Given the description of an element on the screen output the (x, y) to click on. 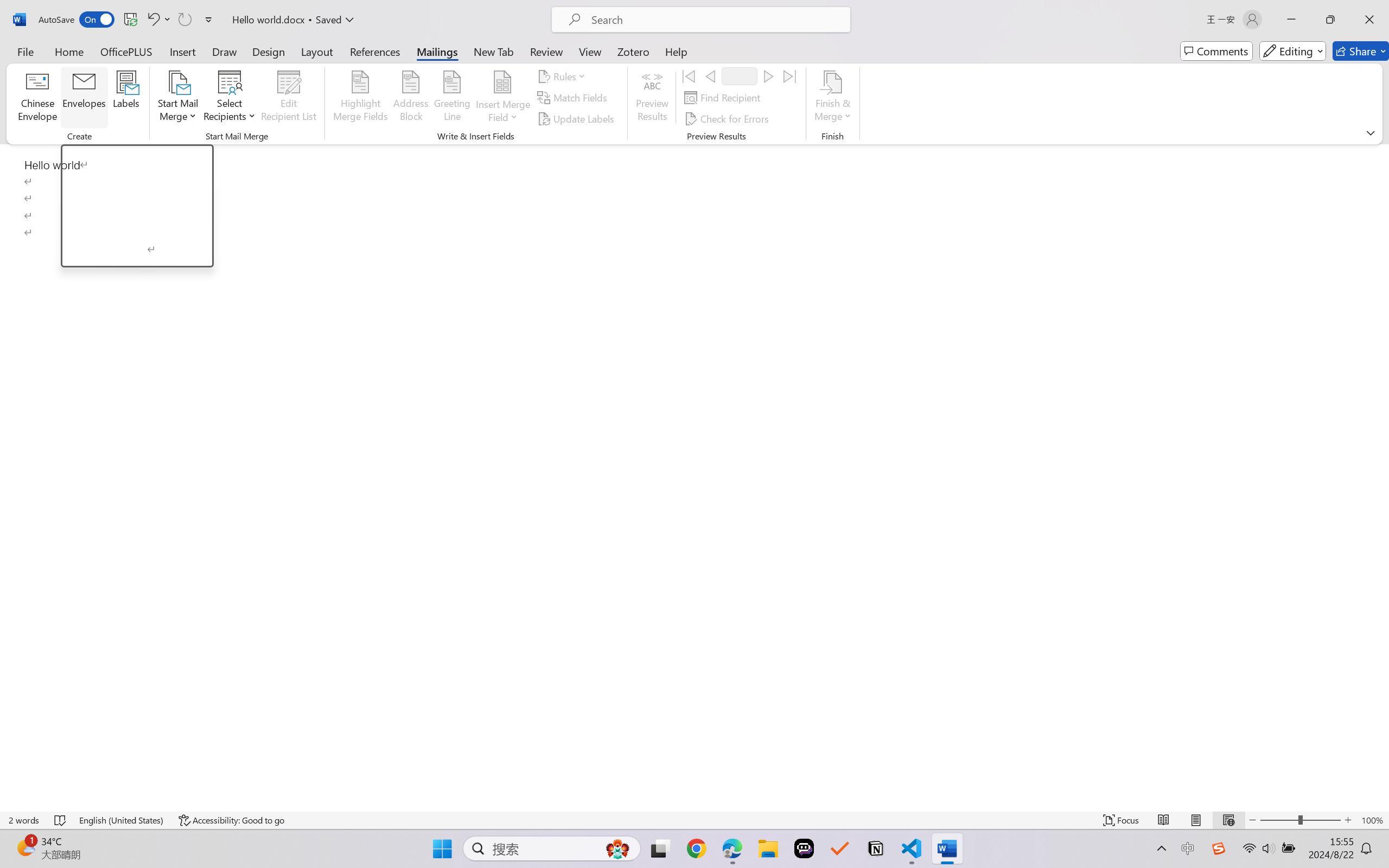
Restore Down (1330, 19)
Review (546, 51)
Save (130, 19)
Finish & Merge (832, 97)
Edit Recipient List... (288, 97)
Zoom 100% (1372, 819)
Quick Access Toolbar (127, 19)
Envelopes... (84, 97)
Read Mode (1163, 819)
Start Mail Merge (177, 97)
Preview Results (652, 97)
